Given the description of an element on the screen output the (x, y) to click on. 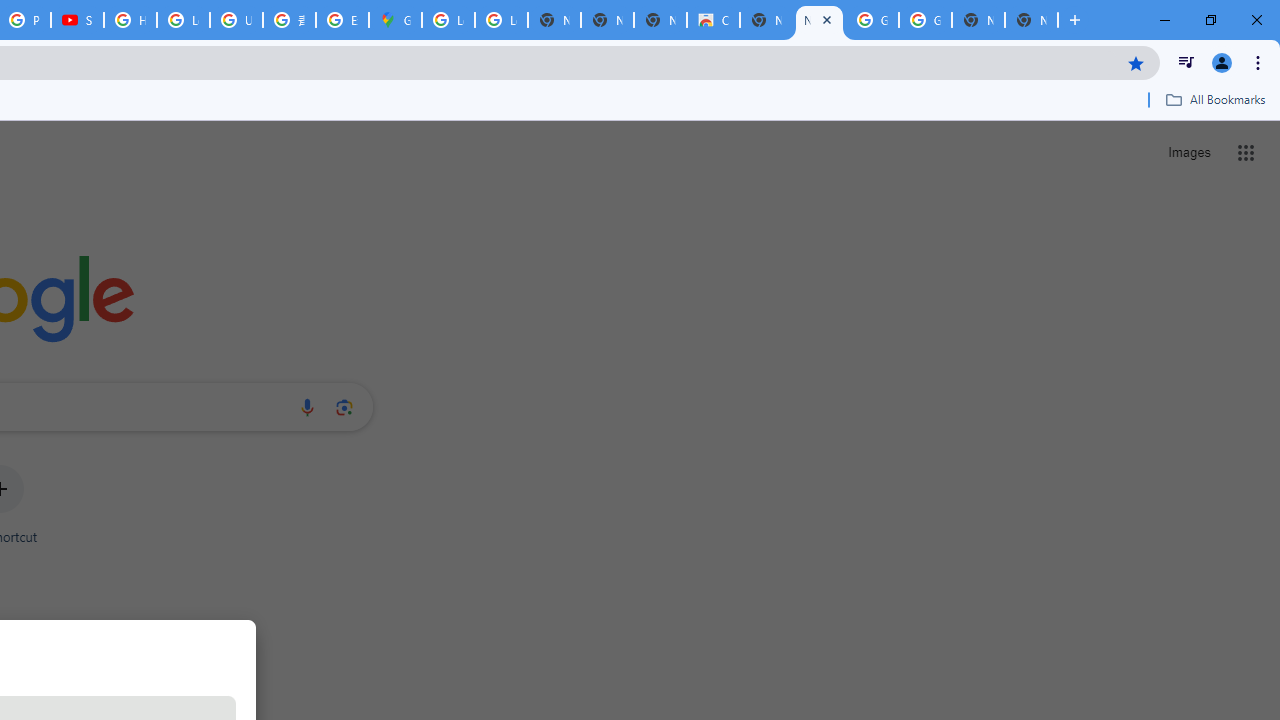
New Tab (1031, 20)
Google Maps (395, 20)
Chrome Web Store (713, 20)
Google Images (925, 20)
How Chrome protects your passwords - Google Chrome Help (130, 20)
Control your music, videos, and more (1185, 62)
Google Images (872, 20)
